Given the description of an element on the screen output the (x, y) to click on. 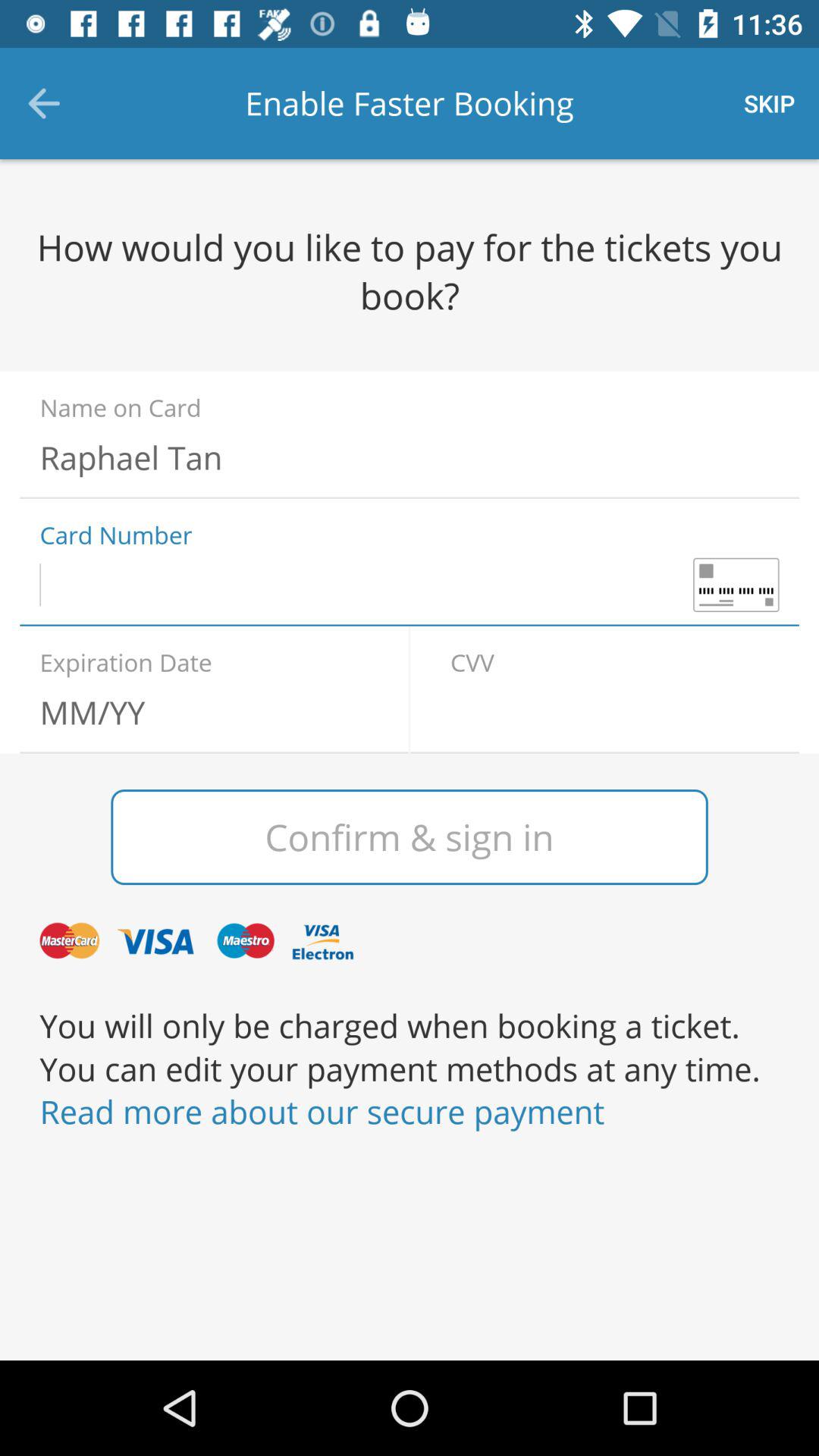
type cw (614, 712)
